Given the description of an element on the screen output the (x, y) to click on. 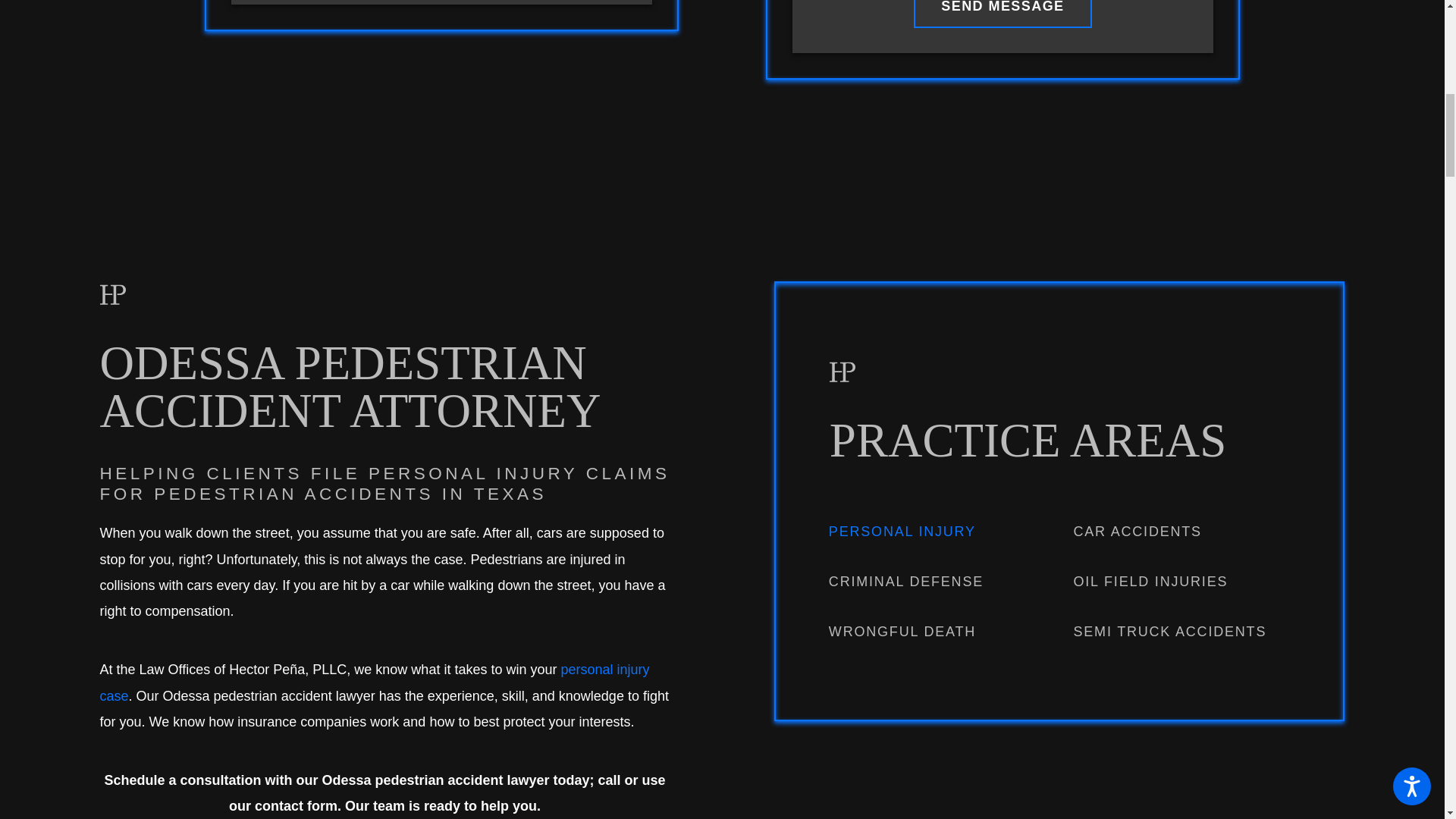
PRACTICE AREAS (1059, 440)
personal injury case (374, 681)
SEND MESSAGE (1002, 14)
PERSONAL INJURY (937, 532)
CAR ACCIDENTS (1181, 532)
